Given the description of an element on the screen output the (x, y) to click on. 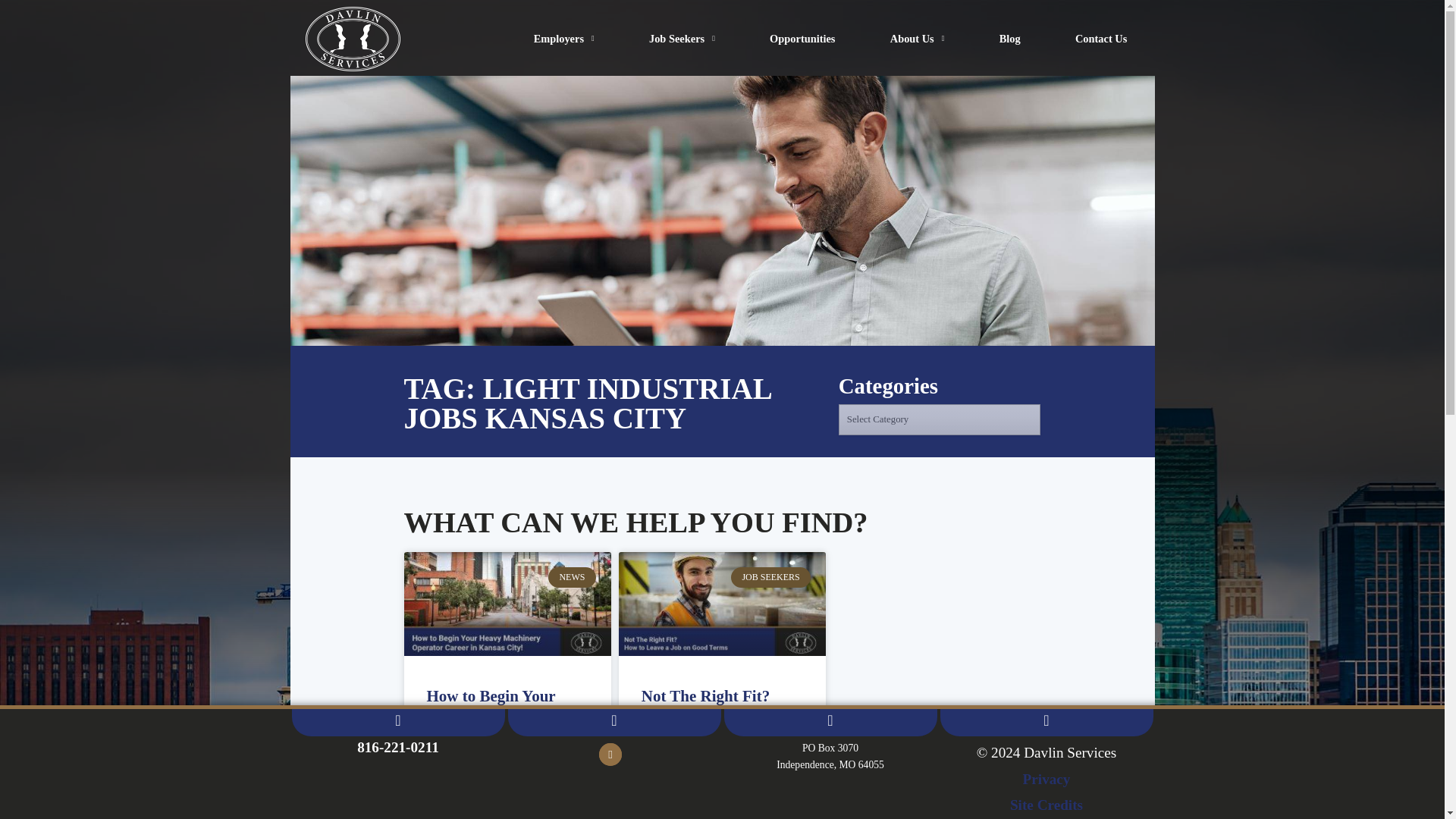
About Us (917, 7)
Contact Us (1101, 12)
Job Seekers (681, 1)
Opportunities (802, 4)
Blog (1010, 11)
